Given the description of an element on the screen output the (x, y) to click on. 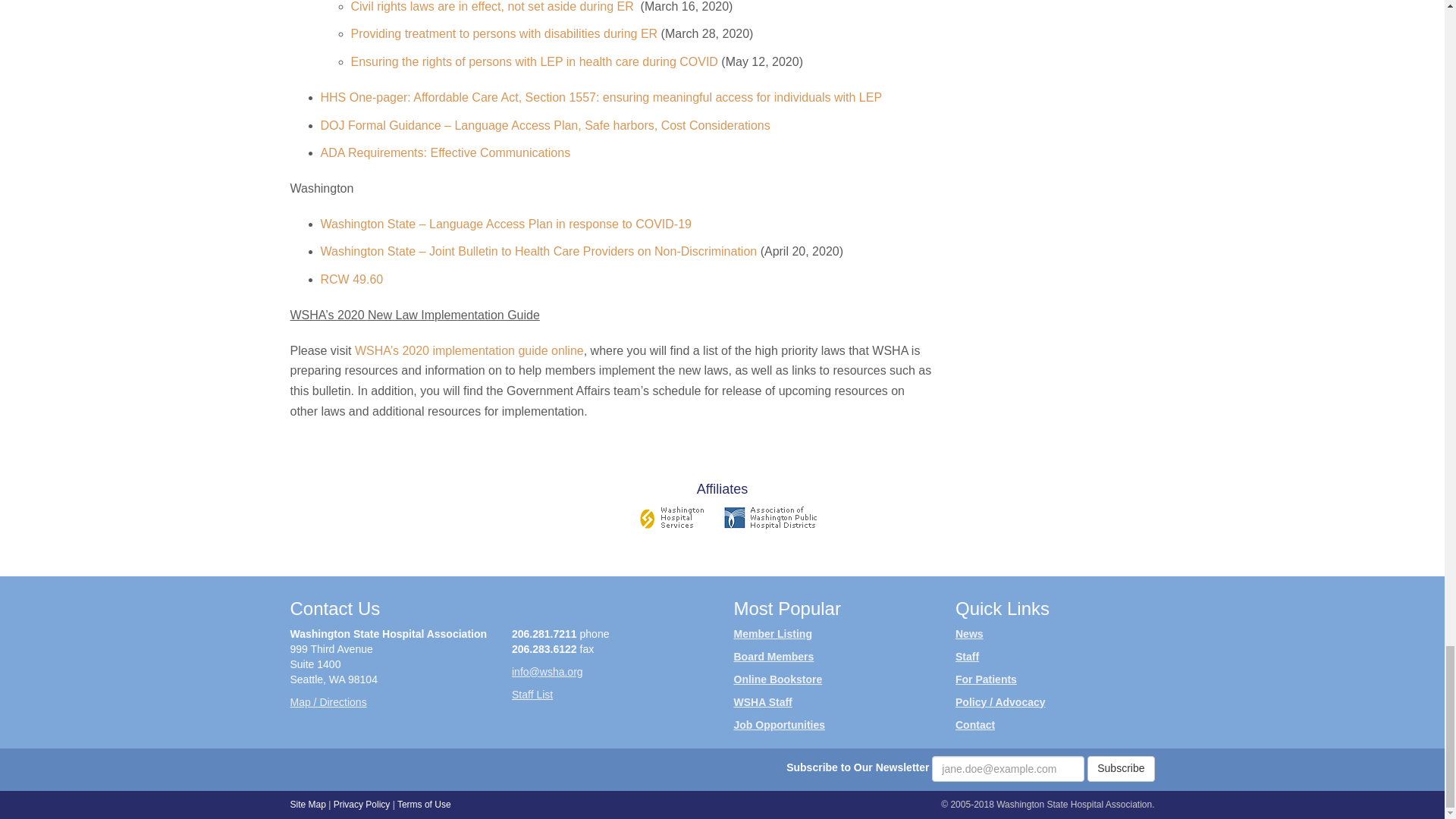
Subscribe (1120, 768)
